Given the description of an element on the screen output the (x, y) to click on. 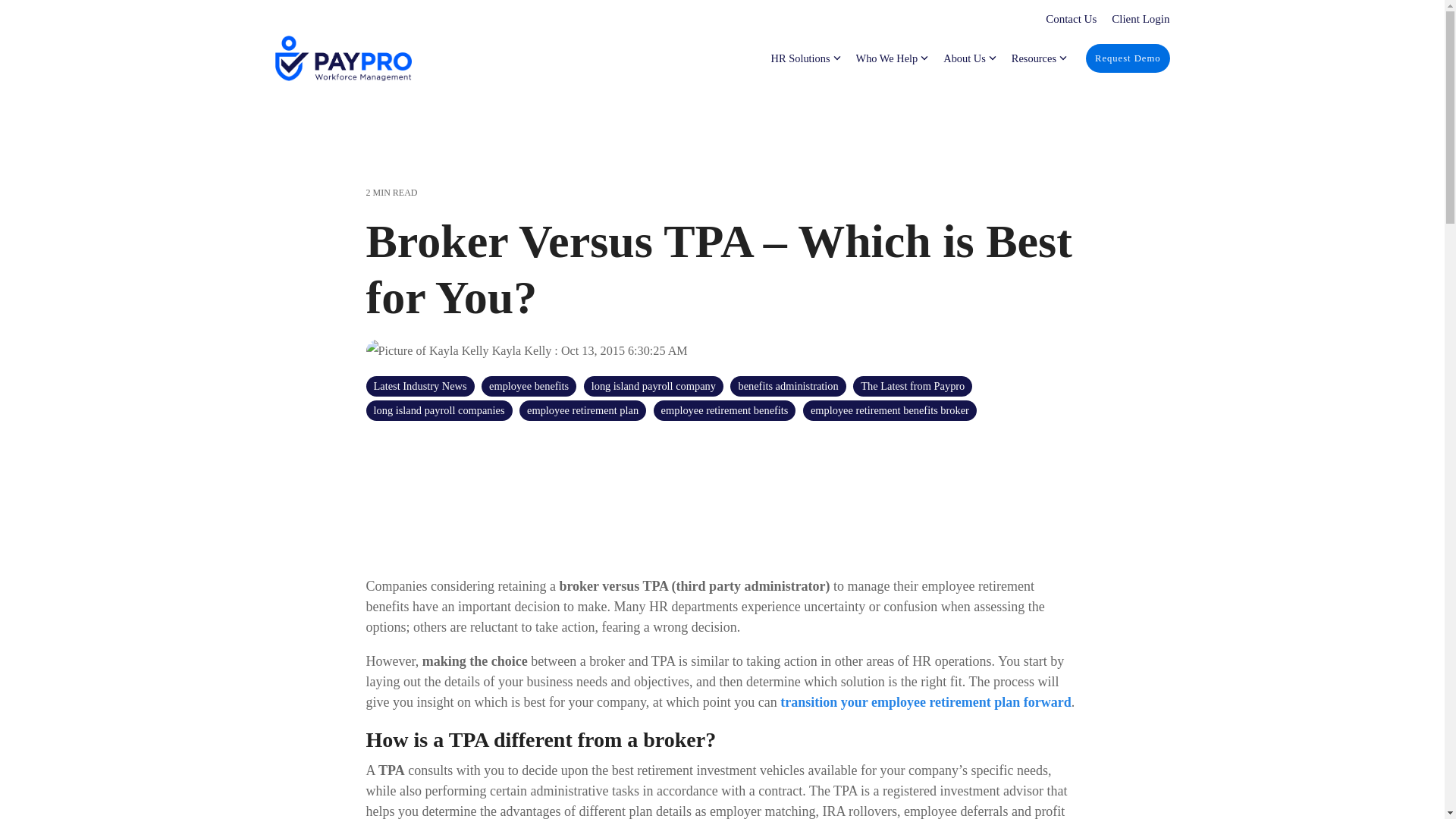
HR Solutions (806, 58)
Contact Us (1063, 19)
Who We Help (892, 58)
PayPro-WordMark-FullColor-RGB (342, 58)
Client Login (1132, 19)
